Given the description of an element on the screen output the (x, y) to click on. 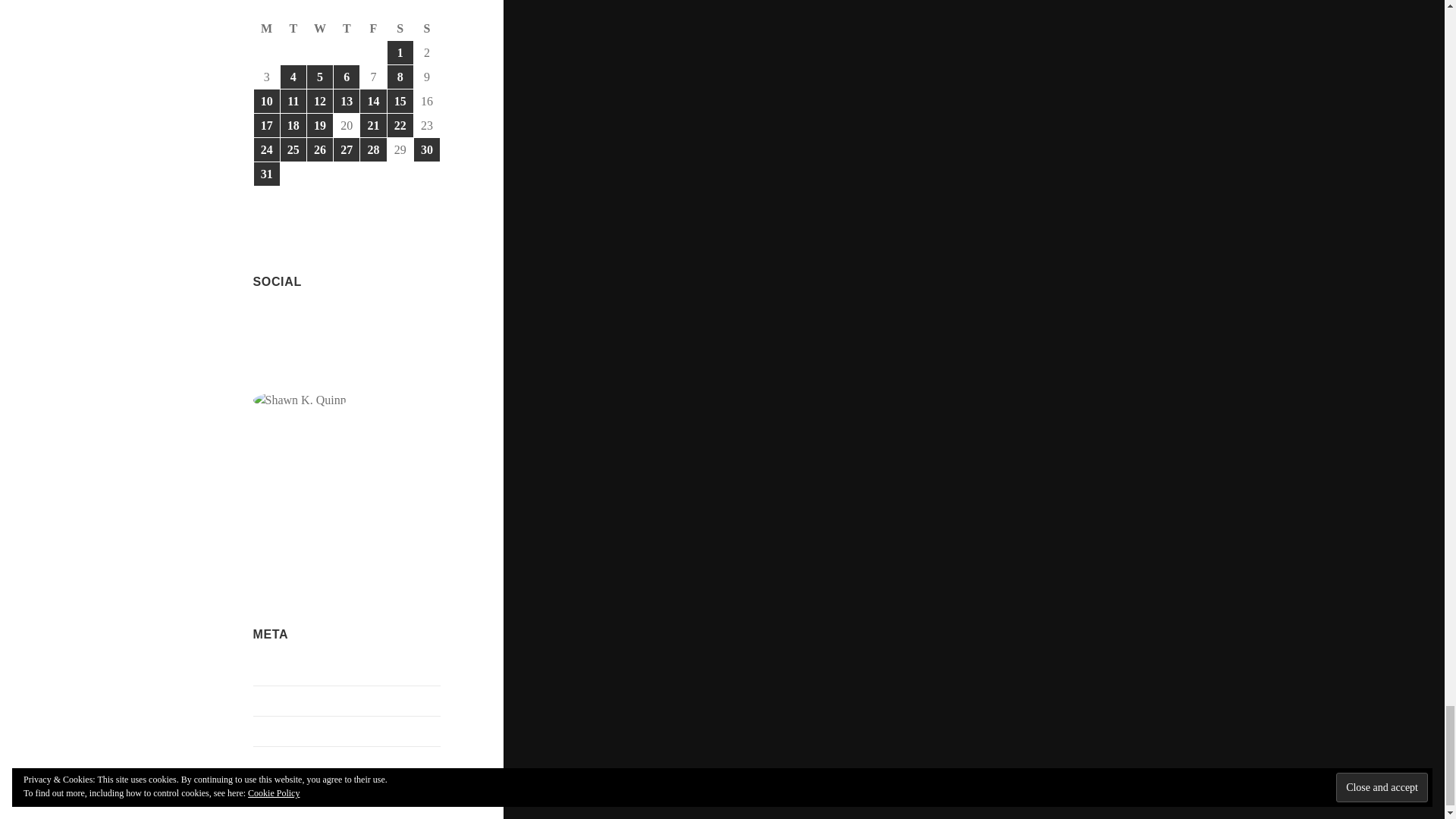
Tuesday (294, 28)
Monday (267, 28)
Sunday (427, 28)
Saturday (400, 28)
Friday (373, 28)
Wednesday (320, 28)
Thursday (346, 28)
